Given the description of an element on the screen output the (x, y) to click on. 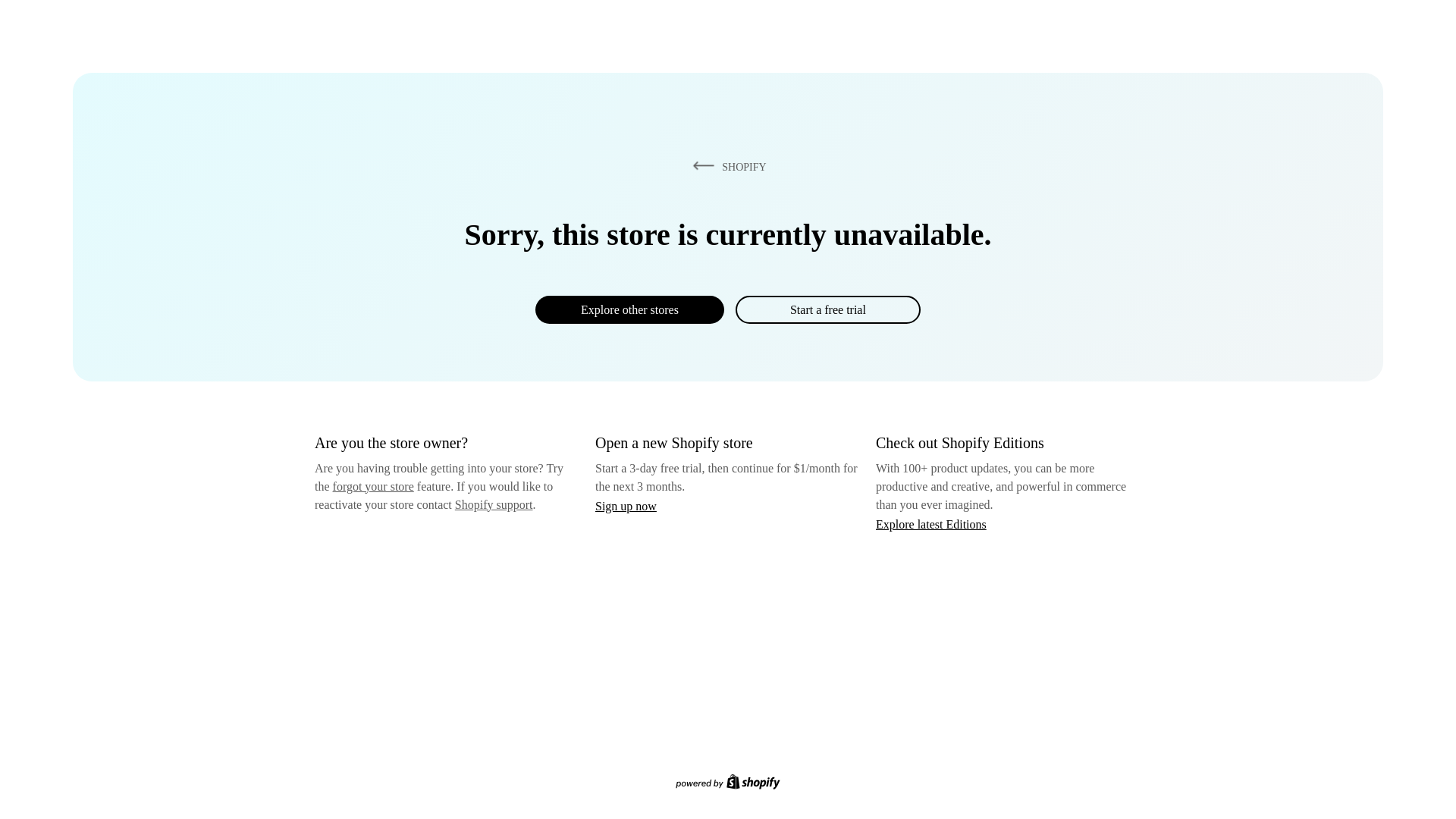
Sign up now (625, 505)
Start a free trial (827, 309)
SHOPIFY (726, 166)
Explore other stores (629, 309)
Shopify support (493, 504)
forgot your store (373, 486)
Explore latest Editions (931, 523)
